Given the description of an element on the screen output the (x, y) to click on. 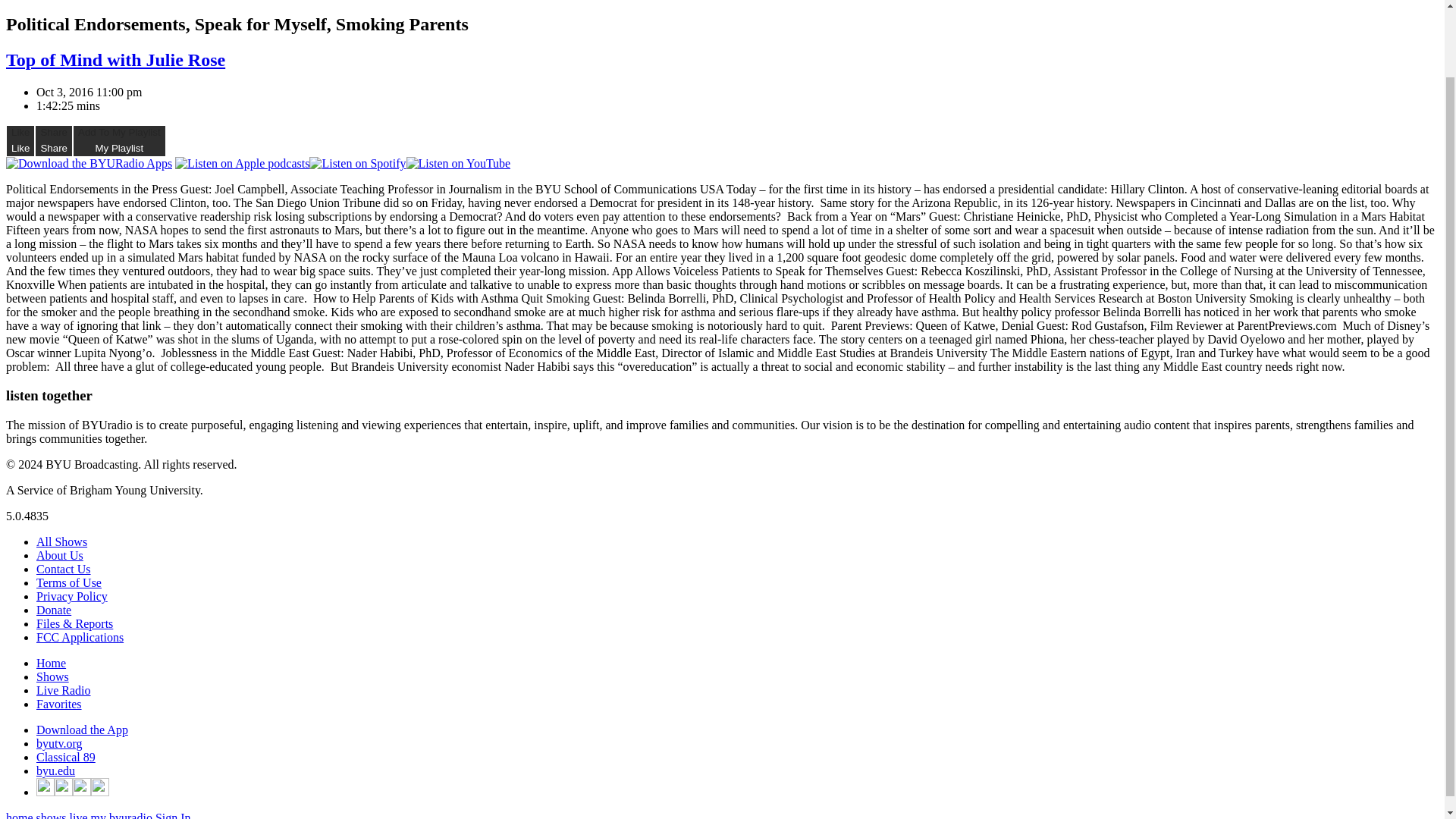
Download the BYURadio Apps (88, 163)
Listen on Apple podcasts (241, 163)
Download the App (82, 729)
Shows (52, 676)
Favorites (58, 703)
About Us (118, 141)
Live Radio (59, 554)
byu.edu (63, 689)
Home (55, 770)
